Given the description of an element on the screen output the (x, y) to click on. 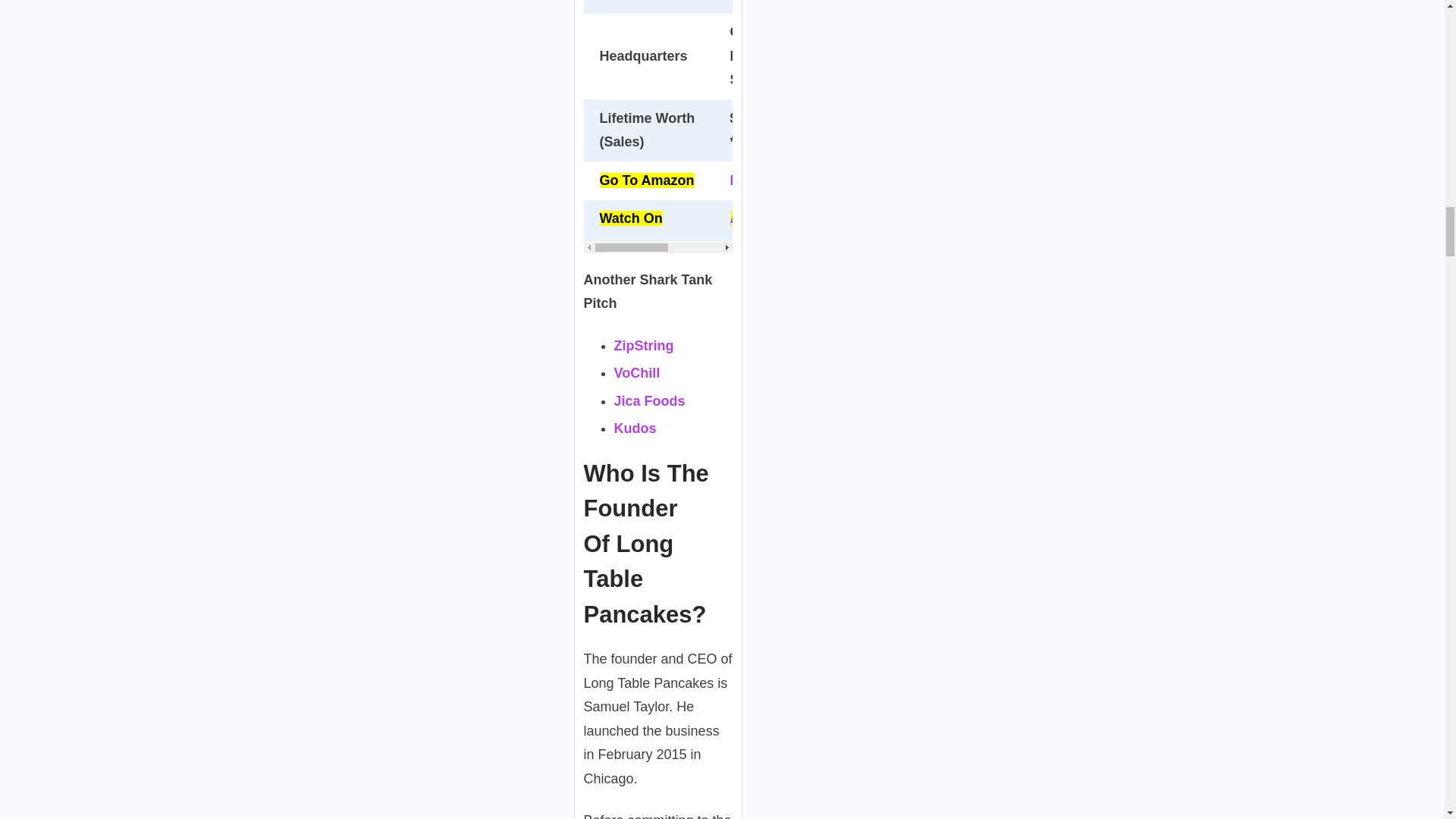
Visit Website (771, 0)
Amazon Prime (777, 218)
Jica Foods (649, 400)
VoChill (637, 372)
Buy Now (759, 180)
ZipString (644, 345)
